Given the description of an element on the screen output the (x, y) to click on. 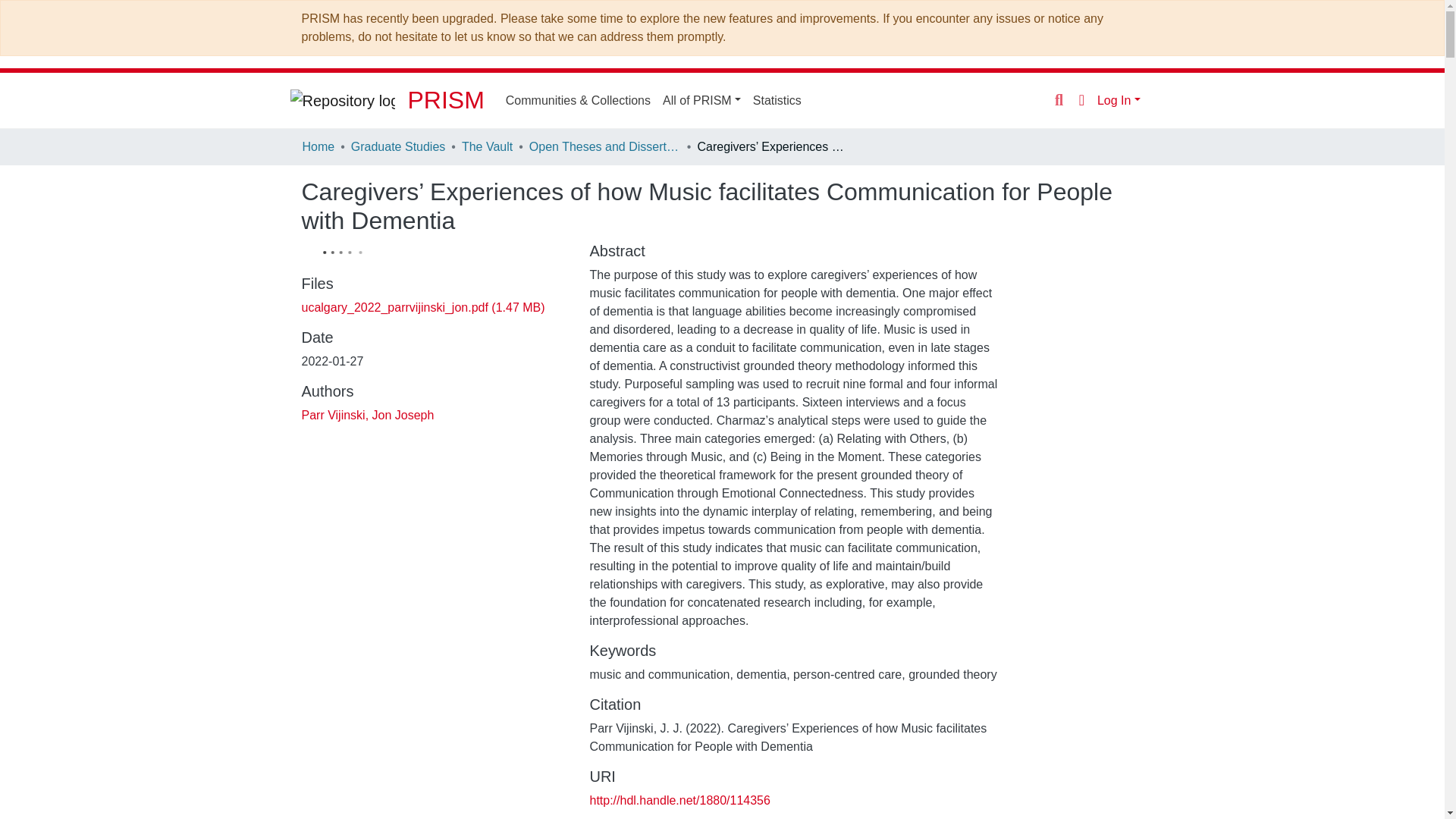
Graduate Studies (397, 146)
Statistics (836, 100)
Open Theses and Dissertations (605, 146)
Log In (1118, 99)
All of PRISM (761, 100)
Statistics (836, 100)
PRISM (519, 100)
Language switch (1051, 99)
Search (1028, 100)
Parr Vijinski, Jon Joseph (367, 413)
The Vault (486, 146)
Home (317, 146)
